Given the description of an element on the screen output the (x, y) to click on. 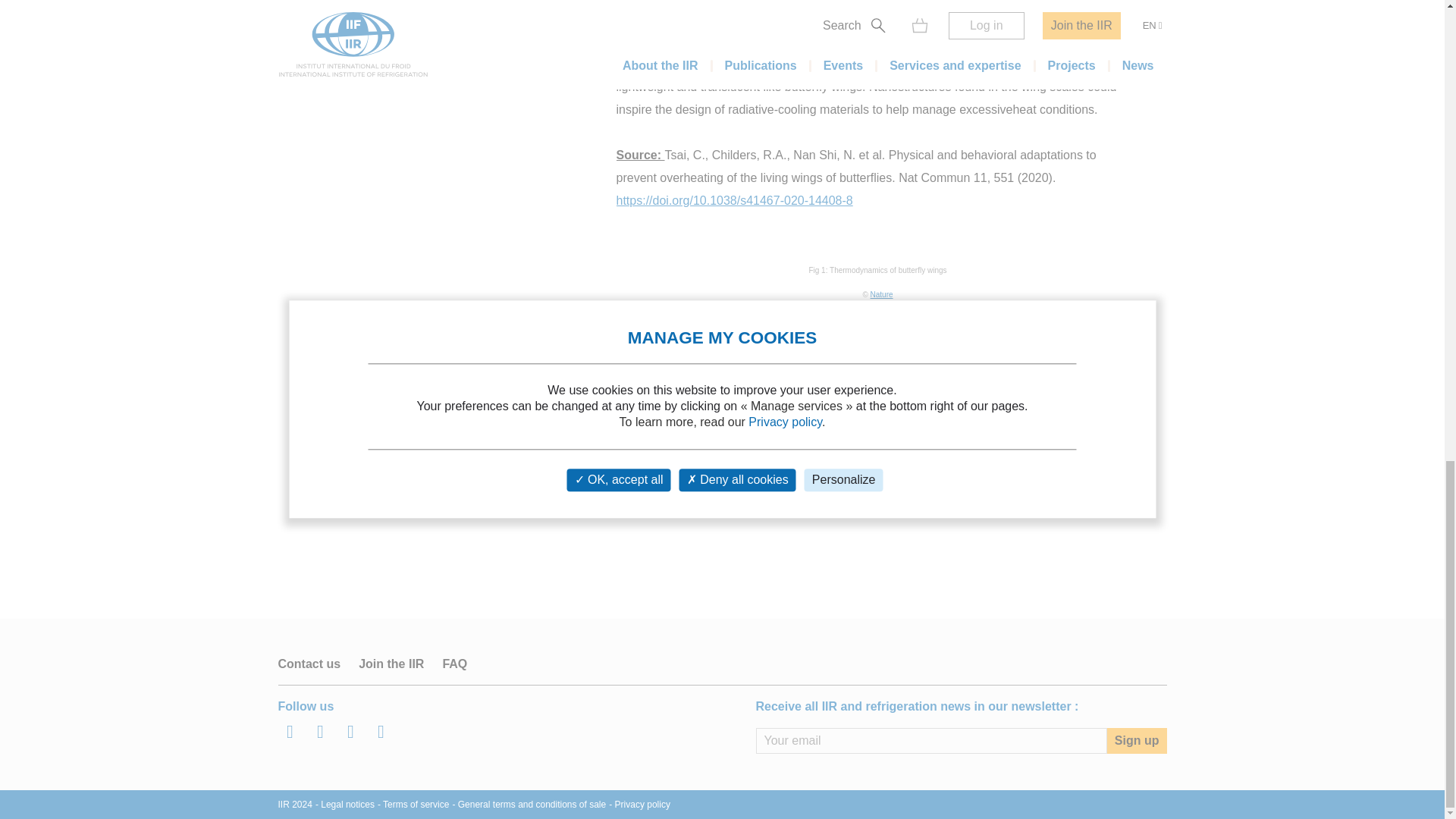
Sign up (1136, 740)
